Given the description of an element on the screen output the (x, y) to click on. 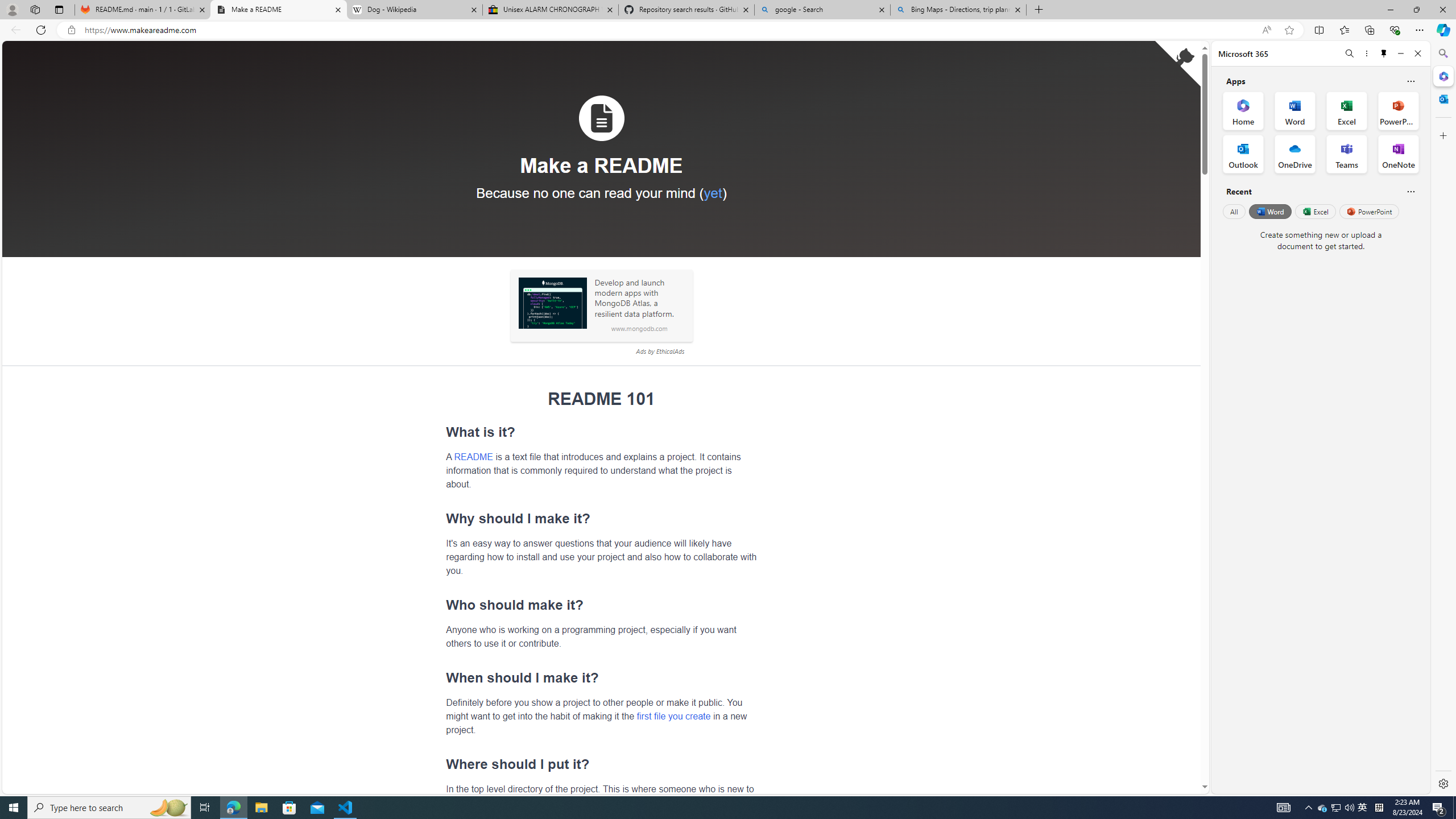
Make a README (277, 9)
PowerPoint (1369, 210)
Outlook Office App (1243, 154)
Open GitHub project (1177, 63)
Excel (1315, 210)
All (1233, 210)
README (473, 456)
Word Office App (1295, 110)
Home Office App (1243, 110)
Sponsored: MongoDB (552, 302)
